Given the description of an element on the screen output the (x, y) to click on. 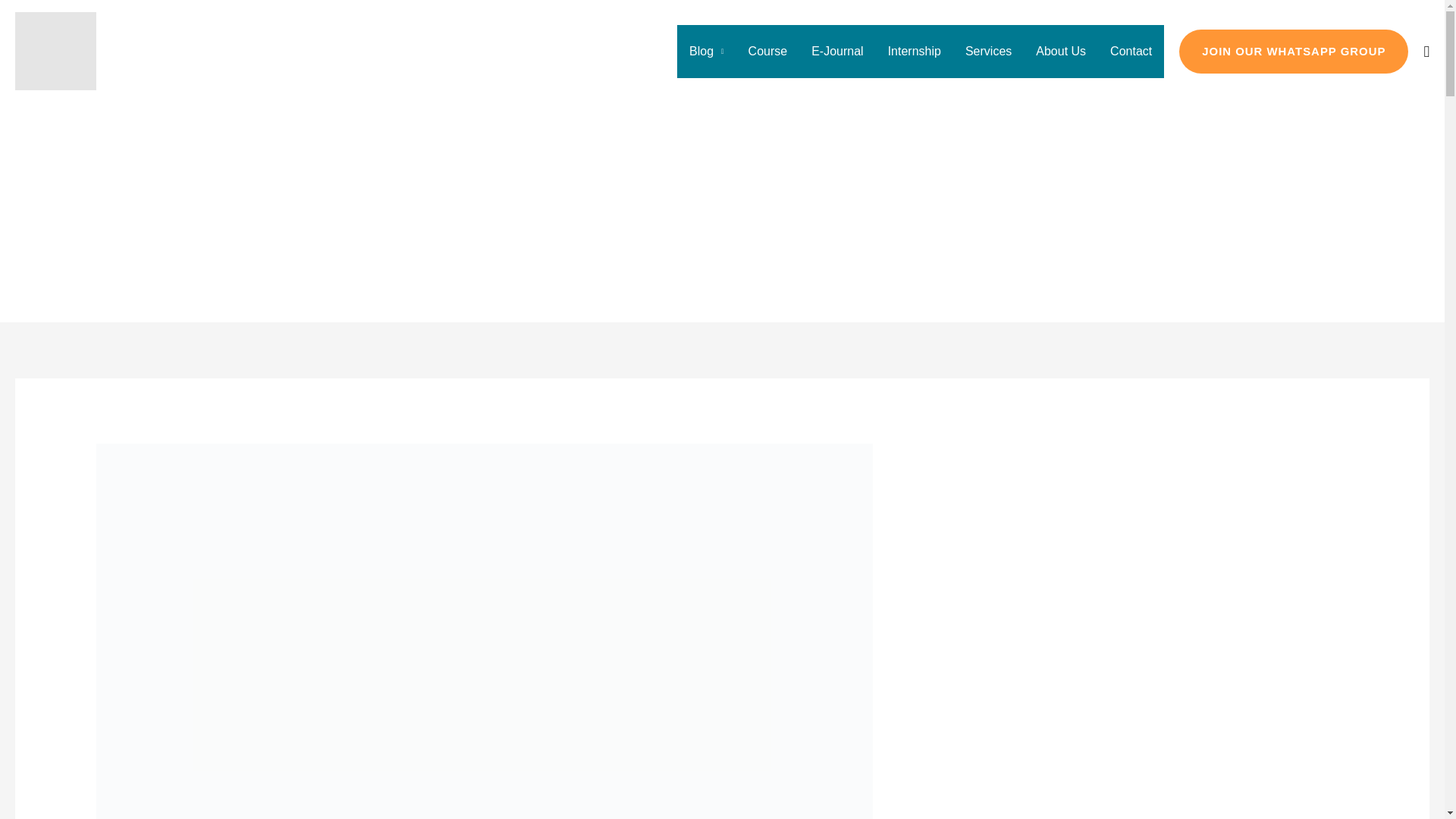
About Us (1060, 51)
Course (767, 51)
E-Journal (837, 51)
Internship (914, 51)
Services (988, 51)
Blog (706, 51)
Contact (1130, 51)
JOIN OUR WHATSAPP GROUP (1293, 51)
